Given the description of an element on the screen output the (x, y) to click on. 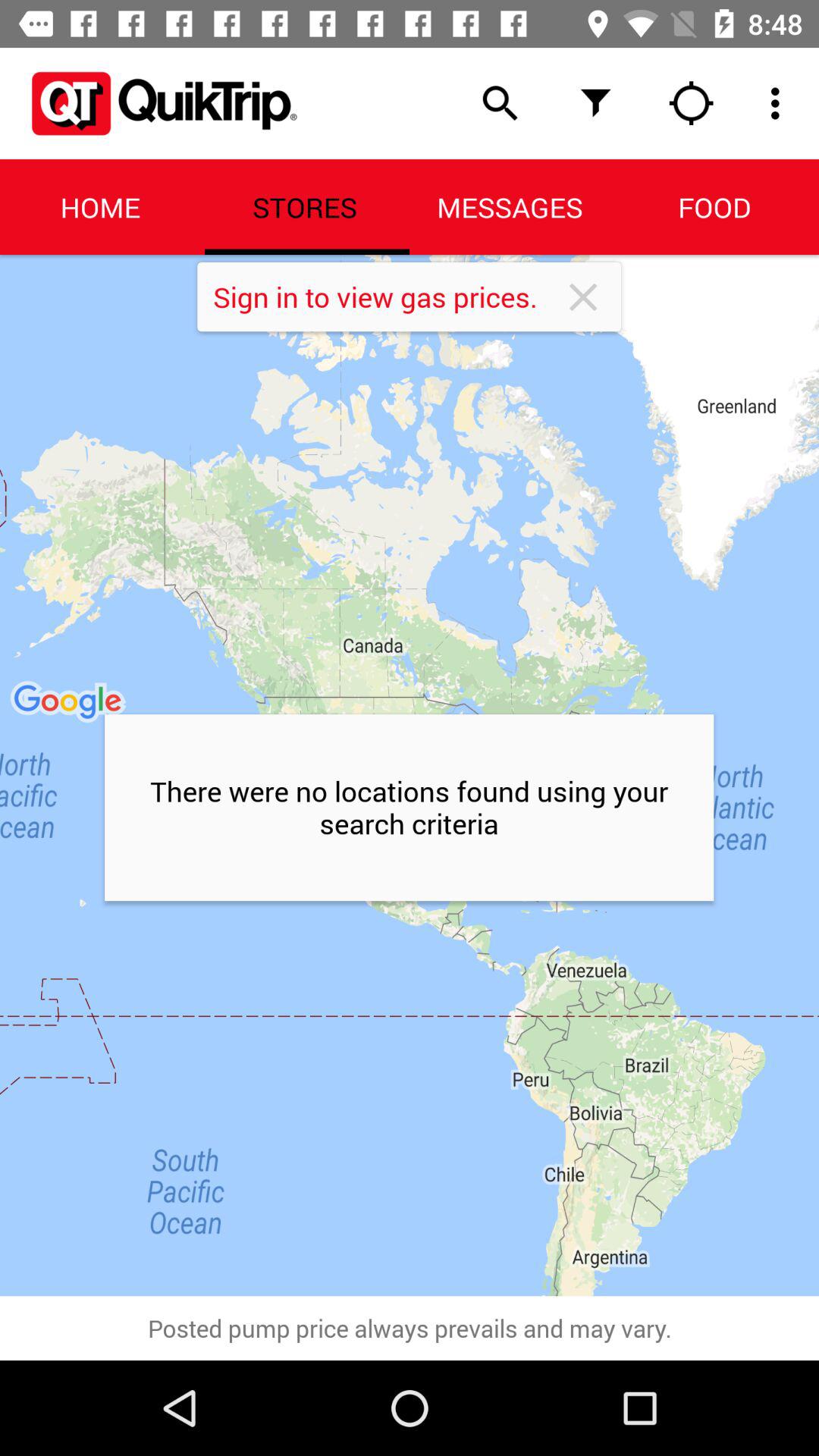
tap icon above the there were no item (387, 296)
